Given the description of an element on the screen output the (x, y) to click on. 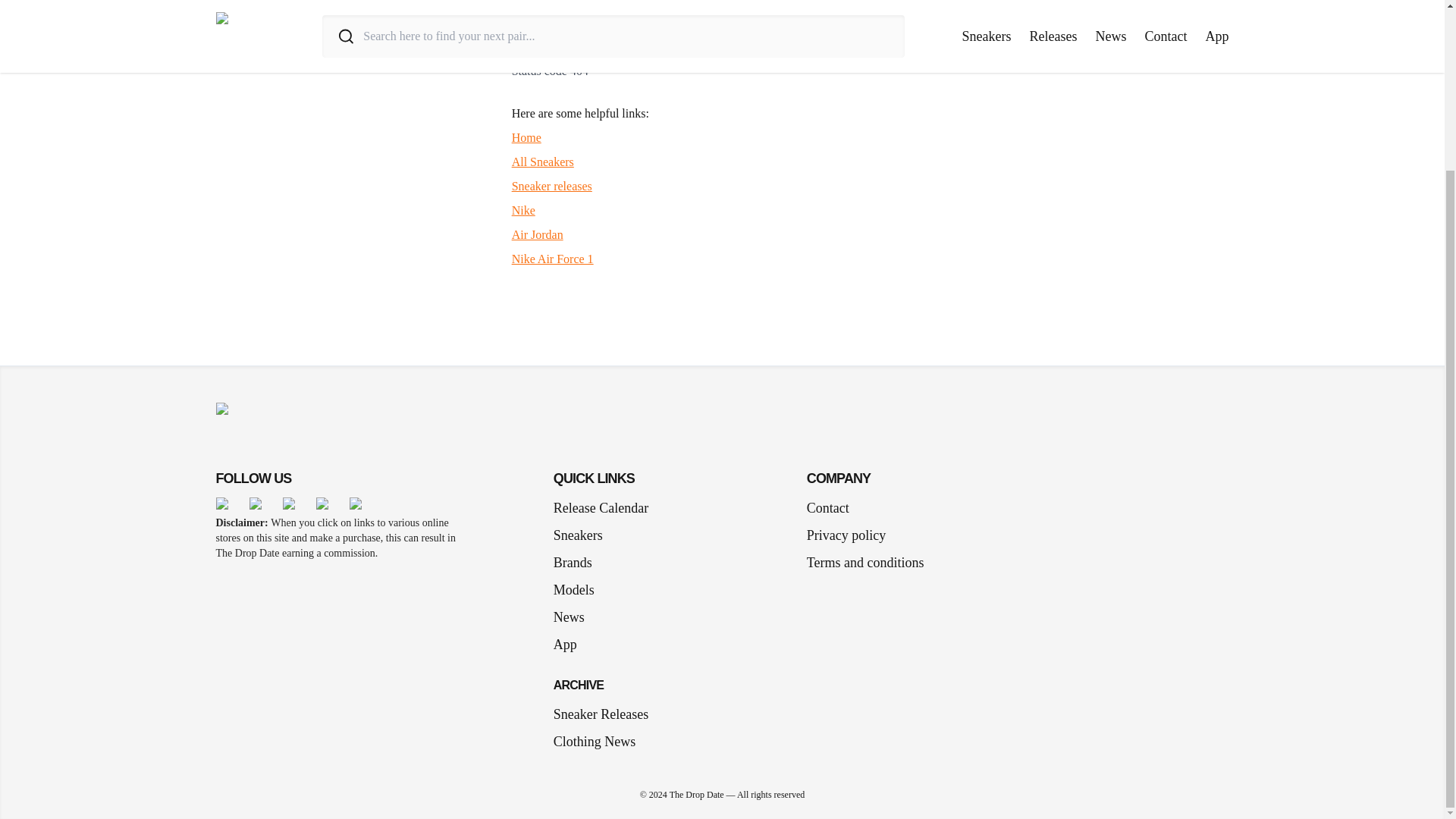
Contact (827, 507)
App (571, 644)
Sneaker Releases (600, 713)
Models (580, 589)
Nike (523, 210)
Nike Air Force 1 (553, 258)
Brands (578, 562)
Release Calendar (600, 507)
Privacy policy (845, 535)
News (574, 617)
